Given the description of an element on the screen output the (x, y) to click on. 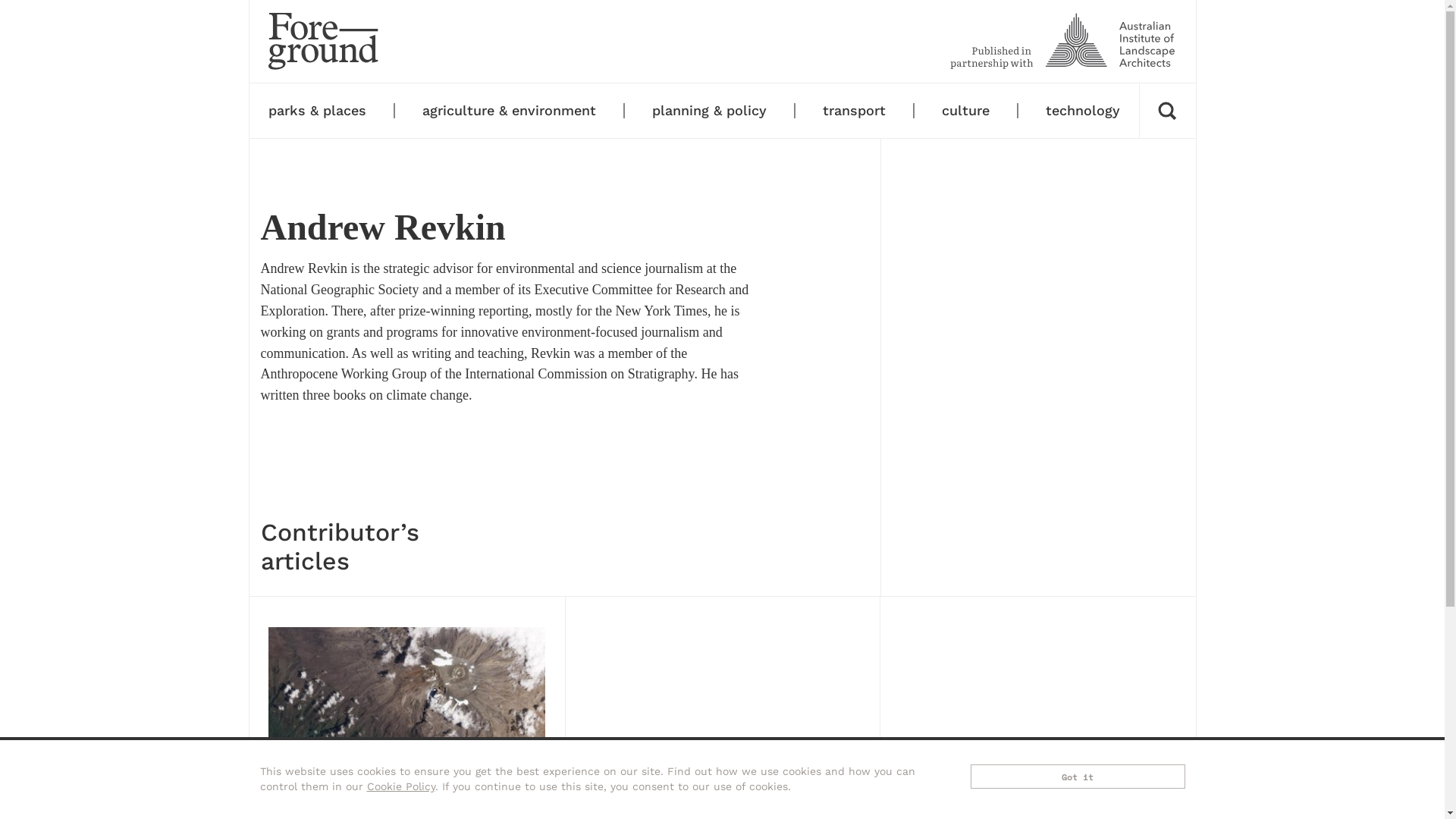
Cookie Policy Element type: text (401, 786)
culture Element type: text (965, 110)
parks & places Element type: text (317, 110)
technology Element type: text (1081, 110)
Got it Element type: text (1077, 776)
planning & policy Element type: text (709, 110)
agriculture & environment Element type: text (508, 110)
transport Element type: text (853, 110)
Agriculture & environment Element type: text (366, 807)
